Given the description of an element on the screen output the (x, y) to click on. 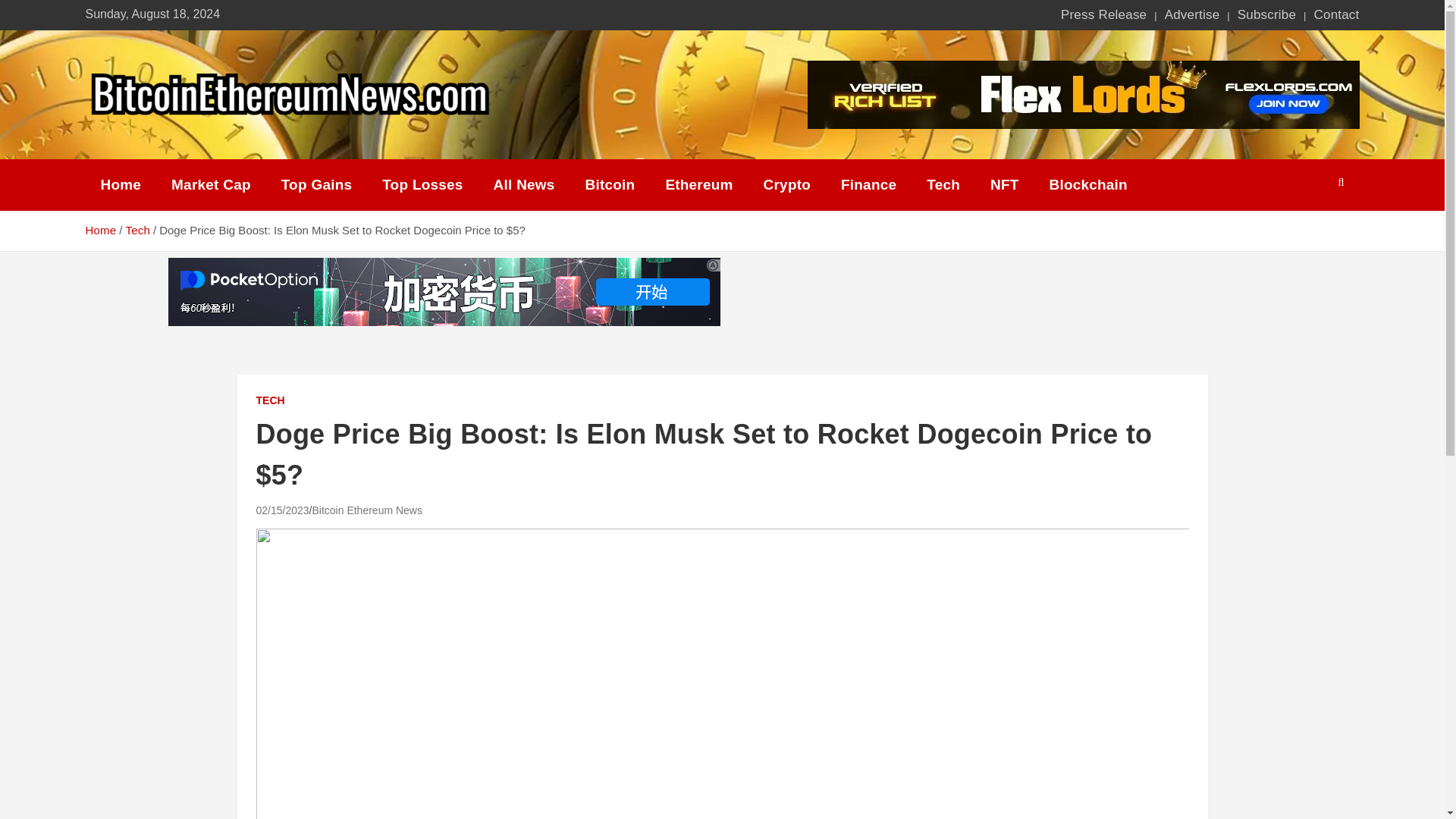
Press Release (1104, 14)
Advertisement (999, 291)
Homepage (119, 184)
Home (119, 184)
BitcoinEthereumNews.com (280, 139)
Ethereum (698, 184)
Top Gains (316, 184)
Subscribe (1266, 14)
NFT News Articles (1004, 184)
